Given the description of an element on the screen output the (x, y) to click on. 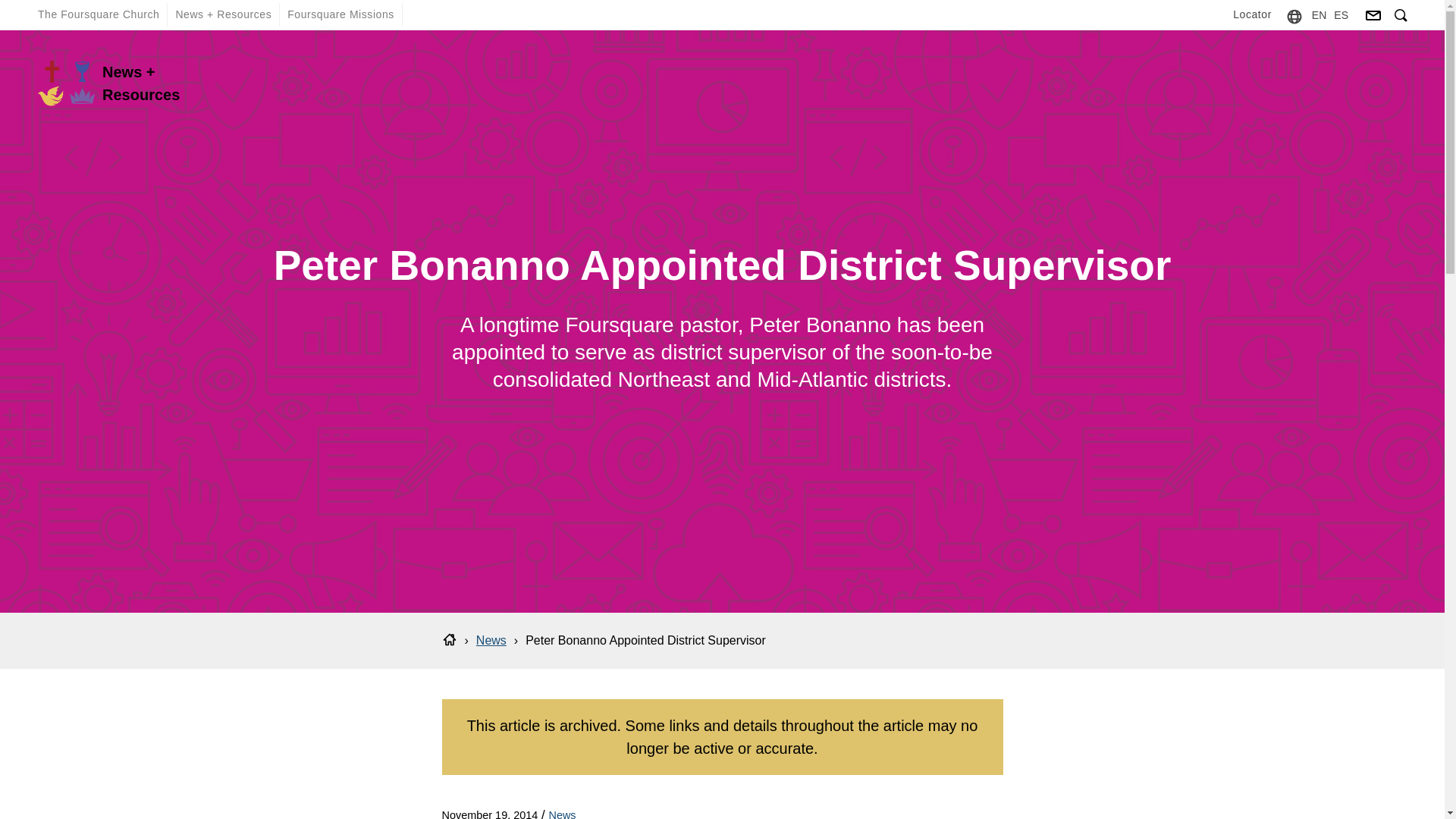
Locator (1252, 14)
News (491, 640)
The Foursquare Church (98, 14)
EN (1318, 14)
News (561, 814)
ES (1341, 14)
Peter Bonanno Appointed District Supervisor (645, 640)
Foursquare Missions (340, 14)
